Given the description of an element on the screen output the (x, y) to click on. 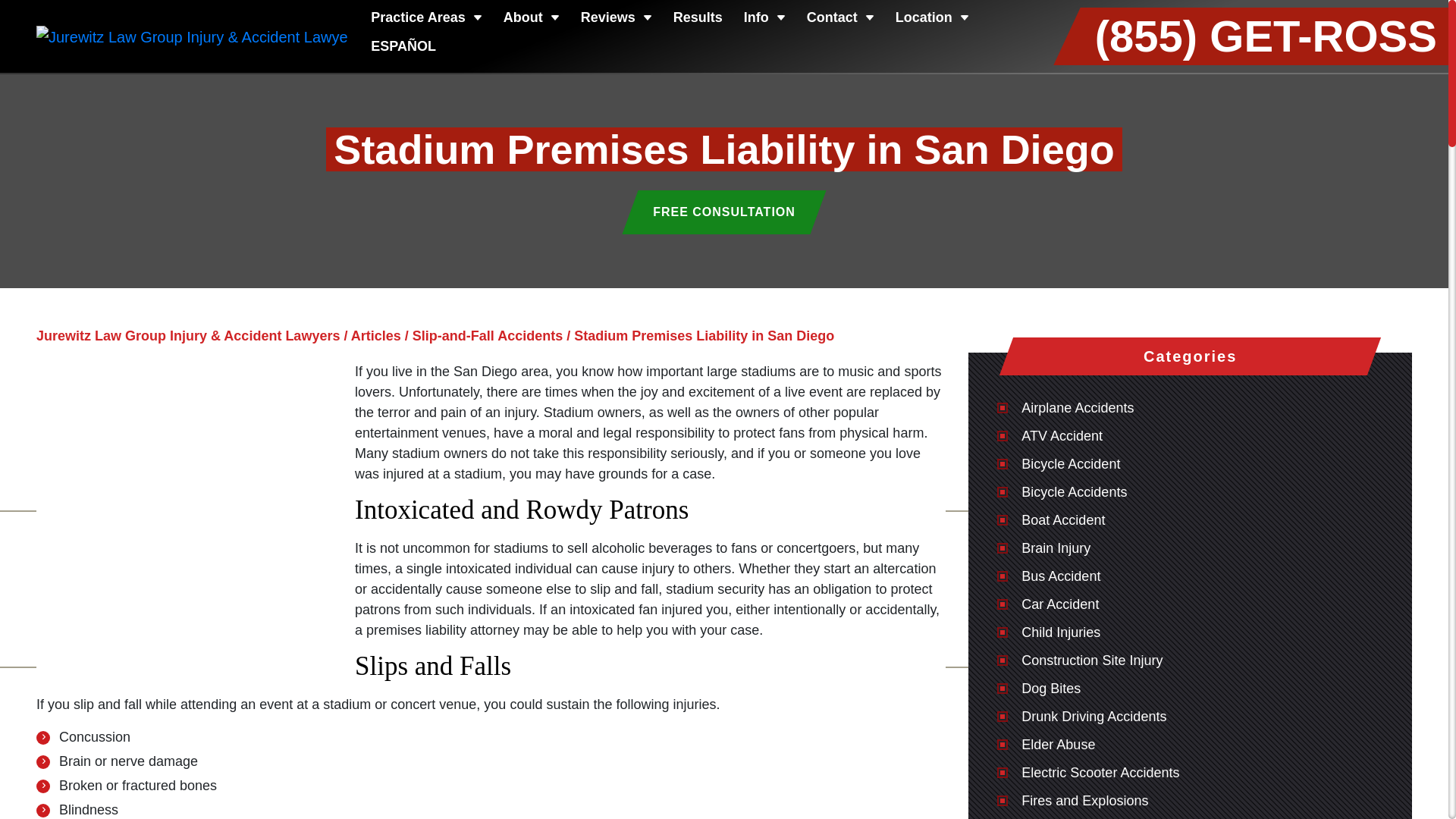
Reviews (616, 19)
Location (932, 19)
Practice Areas (426, 19)
Results (697, 19)
Go to Articles. (375, 335)
Info (765, 19)
Contact (840, 19)
Go to the Slip-and-Fall Accidents category archives. (487, 335)
About (531, 19)
